Given the description of an element on the screen output the (x, y) to click on. 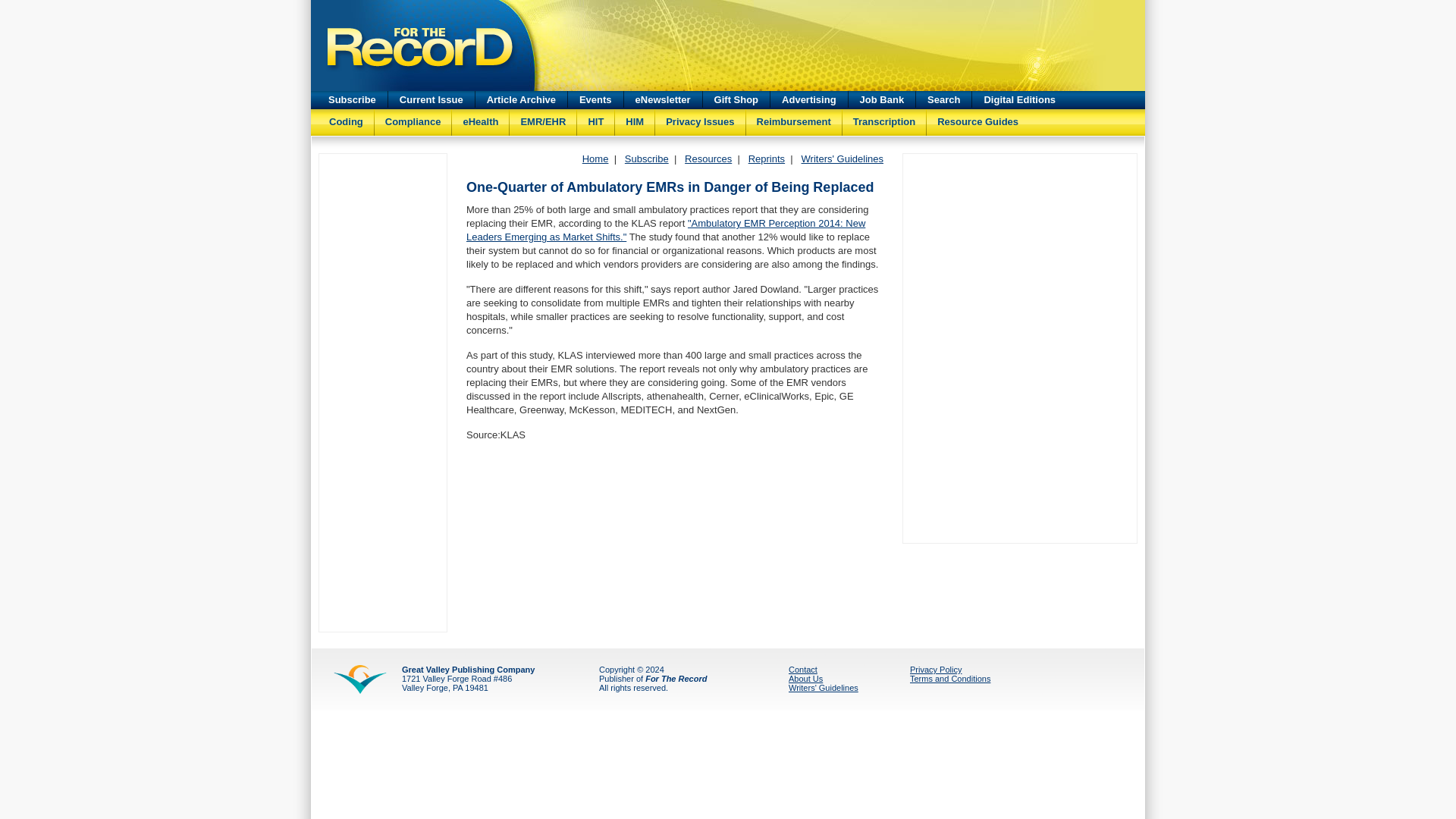
Subscribe (646, 158)
About Us (805, 678)
Contact (802, 669)
Current Issue (431, 99)
Search (943, 99)
Terms and Conditions (950, 678)
Subscribe (646, 158)
Reprints (766, 158)
Digital Editions (1019, 99)
Resources (708, 158)
eNewsletter (662, 99)
Transcription (884, 118)
Coding (346, 118)
Writers' Guidelines (824, 687)
Writers' Guidelines (842, 158)
